Given the description of an element on the screen output the (x, y) to click on. 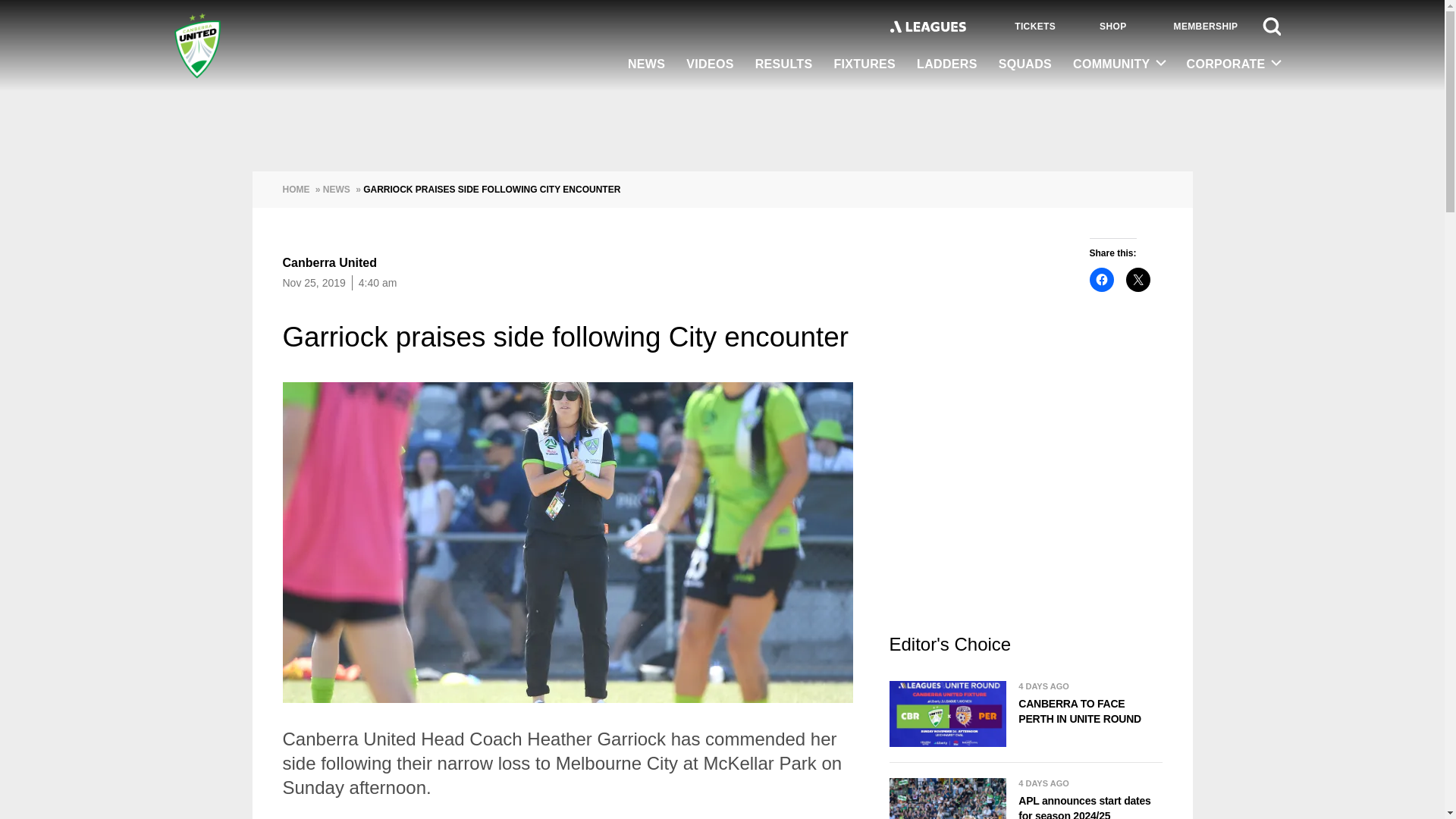
LADDERS (946, 65)
Click to share on X (1137, 279)
TICKETS (1022, 26)
MEMBERSHIP (1195, 26)
NEWS (646, 65)
VIDEOS (709, 65)
SQUADS (1025, 65)
CORPORATE (1228, 64)
COMMUNITY (1119, 64)
FIXTURES (863, 65)
Click to share on Facebook (1101, 279)
RESULTS (784, 65)
SHOP (1102, 26)
3rd party ad content (1024, 506)
